Given the description of an element on the screen output the (x, y) to click on. 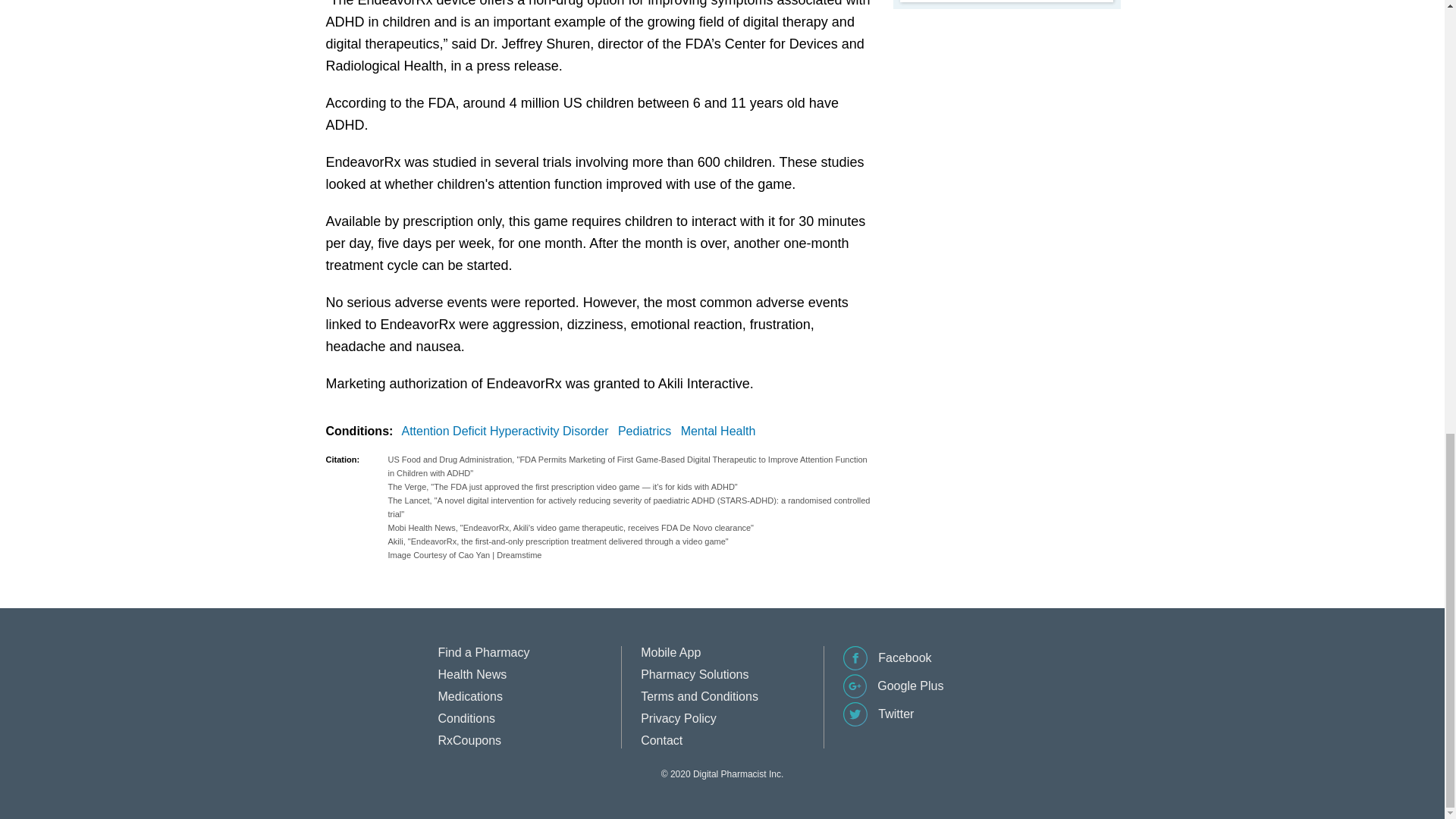
Mental Health (721, 431)
Pediatrics (647, 431)
Attention Deficit Hyperactivity Disorder (507, 431)
